Given the description of an element on the screen output the (x, y) to click on. 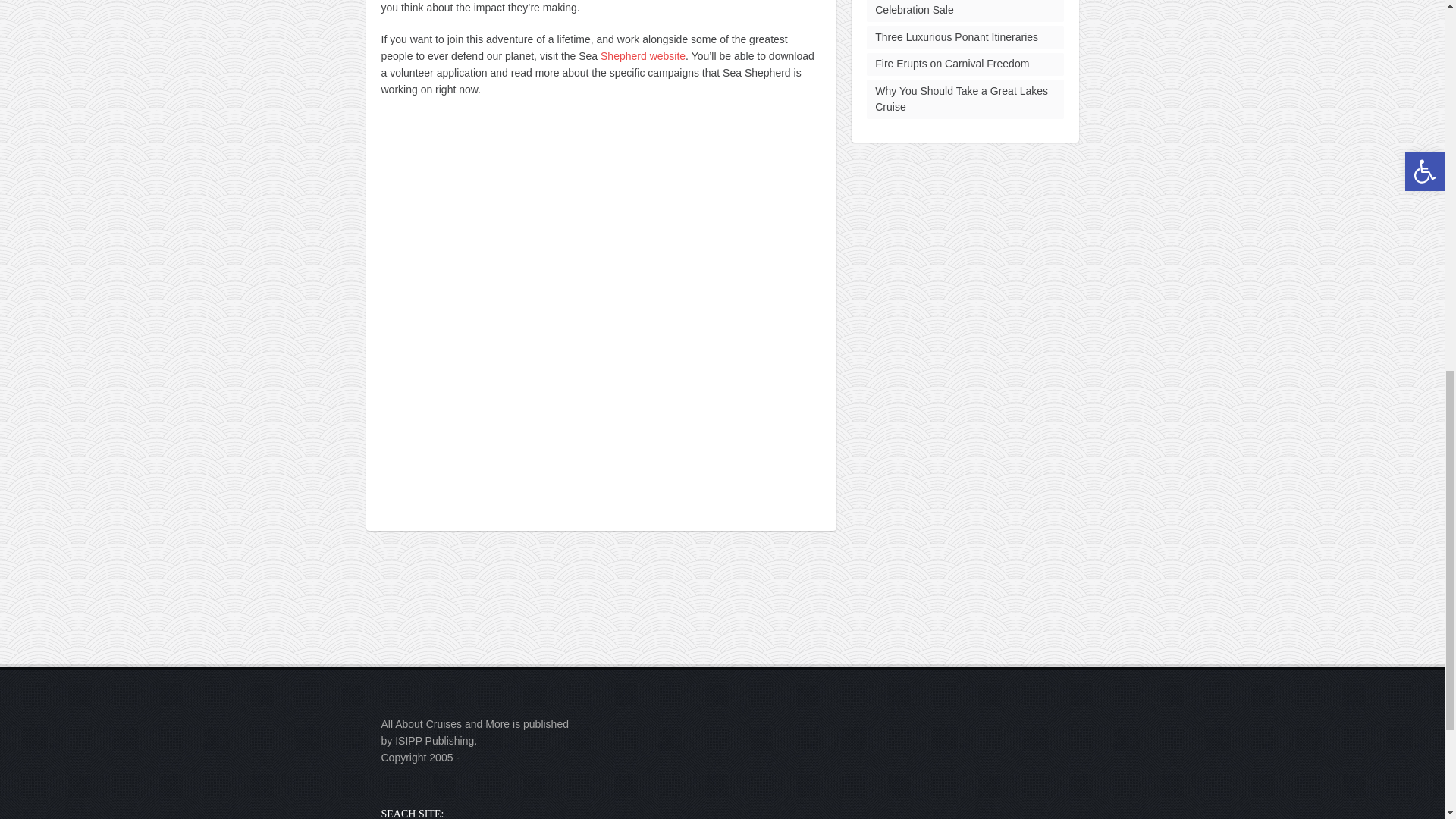
Fire Erupts on Carnival Freedom (952, 63)
Shepherd website (642, 55)
Three Luxurious Ponant Itineraries (956, 37)
Why You Should Take a Great Lakes Cruise (961, 99)
